Given the description of an element on the screen output the (x, y) to click on. 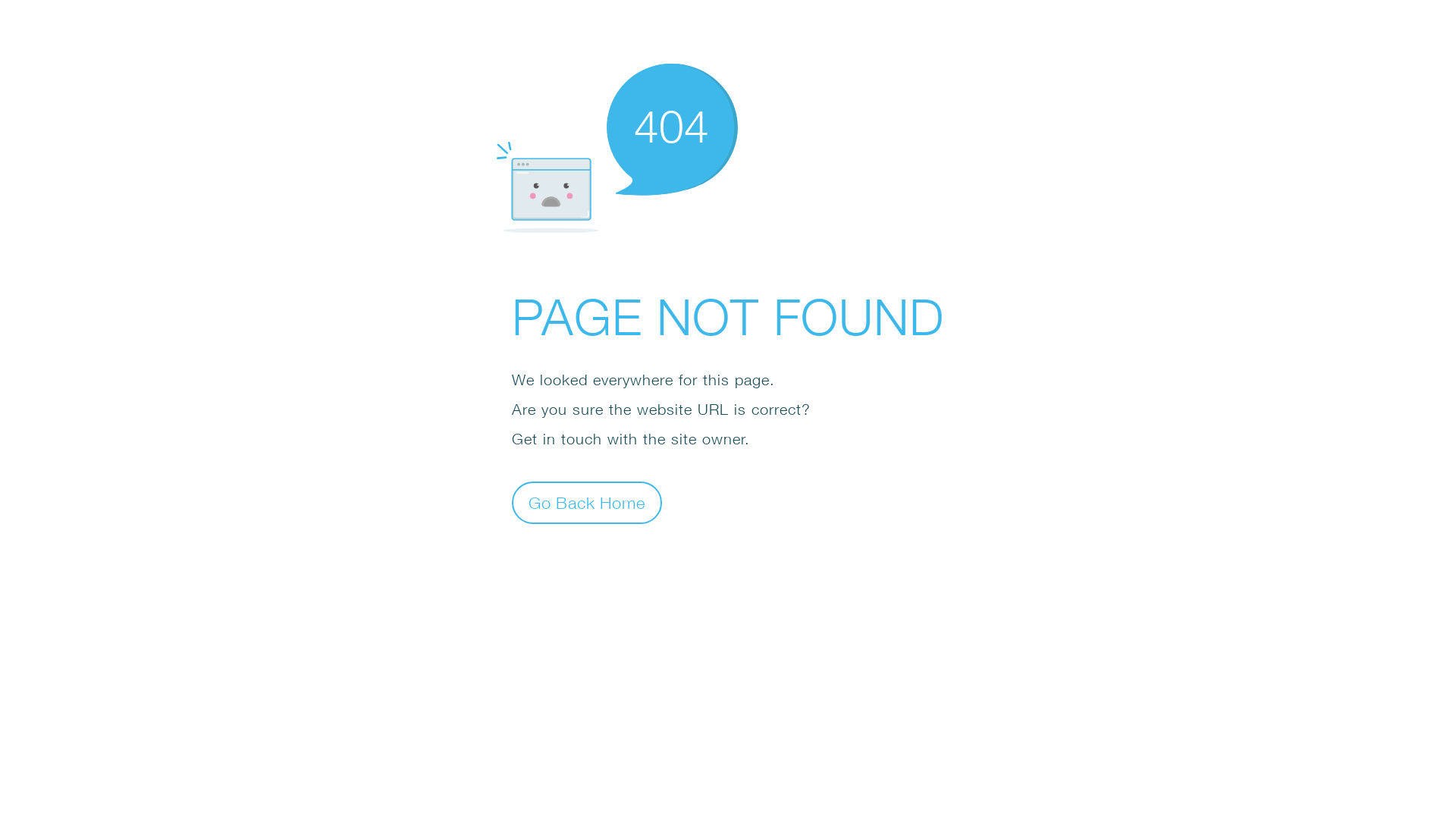
Go Back Home Element type: text (586, 502)
